Given the description of an element on the screen output the (x, y) to click on. 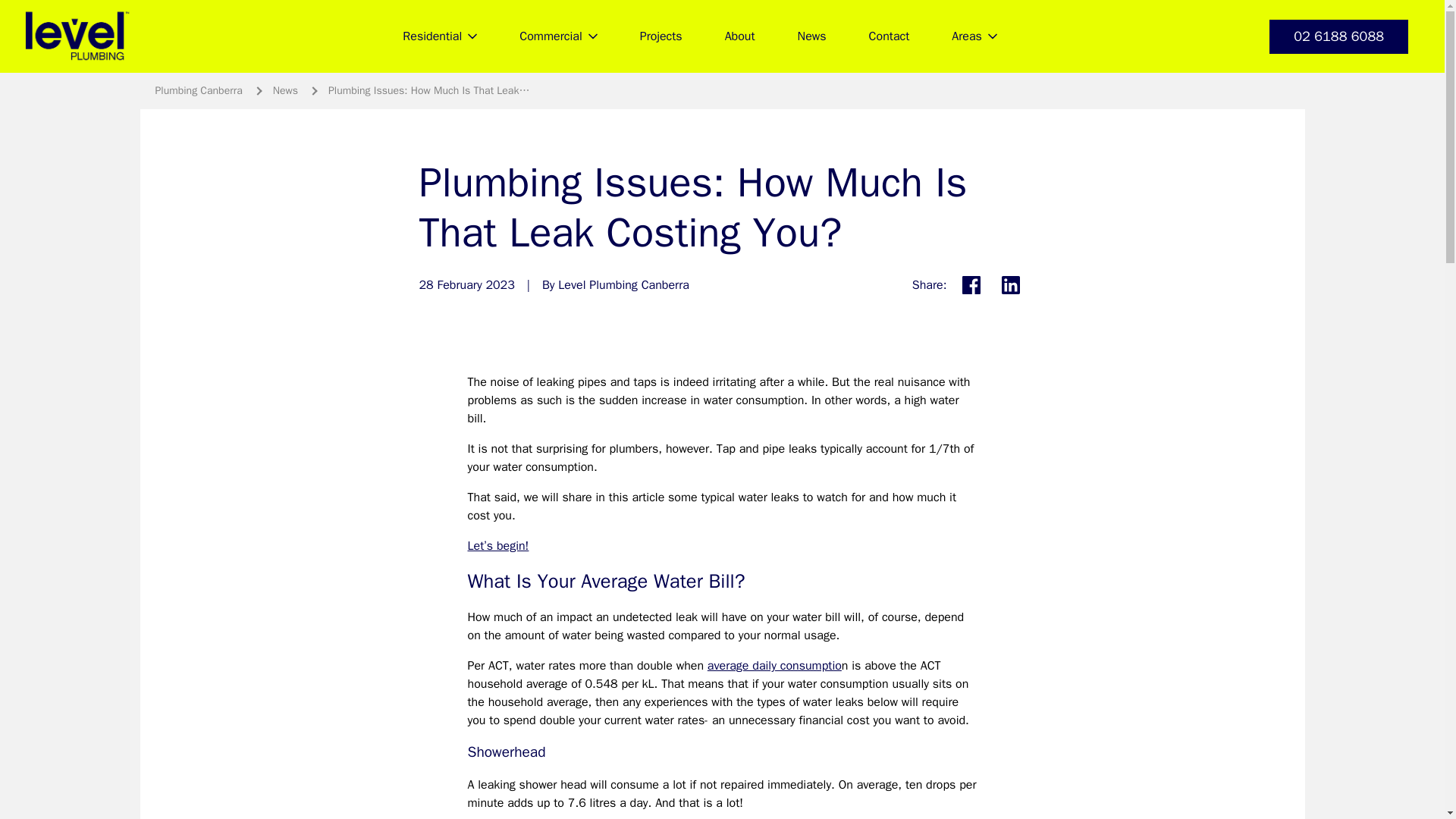
Areas (973, 35)
Share on Facebook (970, 285)
Share on LinkedIn (1009, 285)
Projects (660, 35)
Residential (439, 35)
Contact (889, 35)
News (811, 35)
About (739, 35)
Commercial (557, 35)
